Given the description of an element on the screen output the (x, y) to click on. 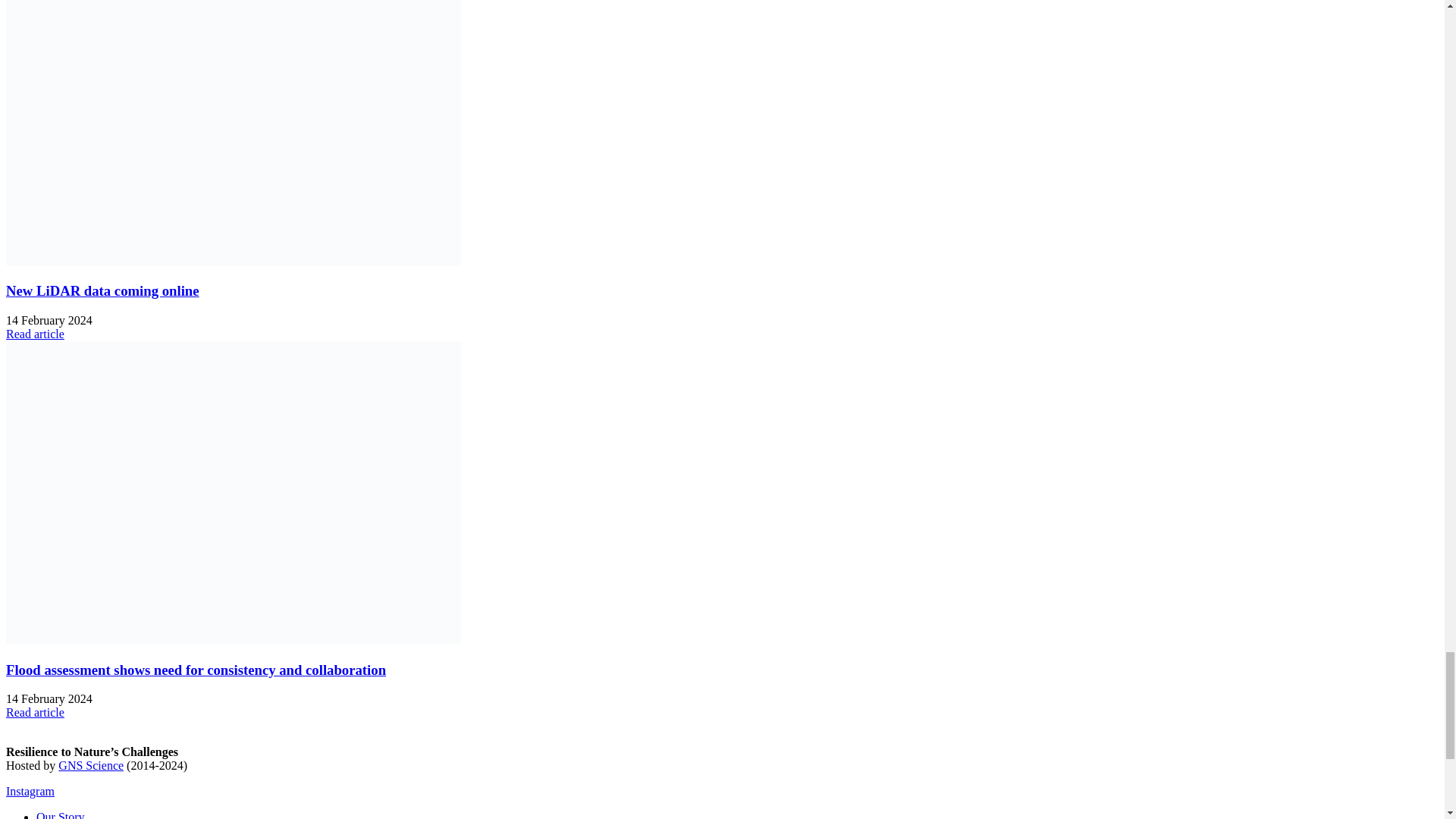
New LiDAR data coming online (233, 260)
New LiDAR data coming online (102, 290)
